Given the description of an element on the screen output the (x, y) to click on. 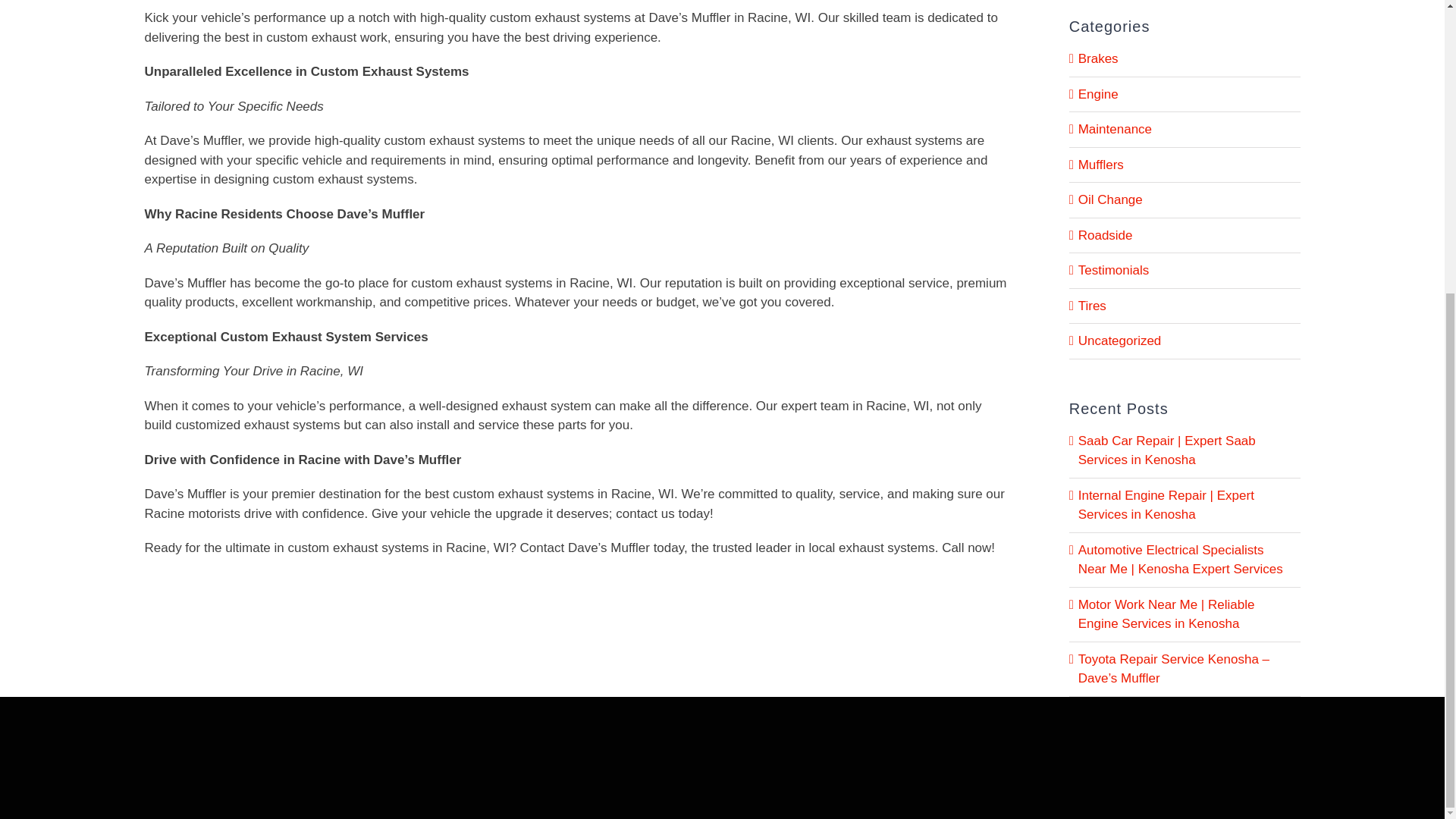
Engine (1185, 94)
Brakes (1185, 58)
Uncategorized (1185, 341)
Mufflers (1185, 164)
Oil Change (1185, 199)
Testimonials (1185, 270)
Maintenance (1185, 129)
Roadside (1185, 235)
Tires (1185, 305)
